Given the description of an element on the screen output the (x, y) to click on. 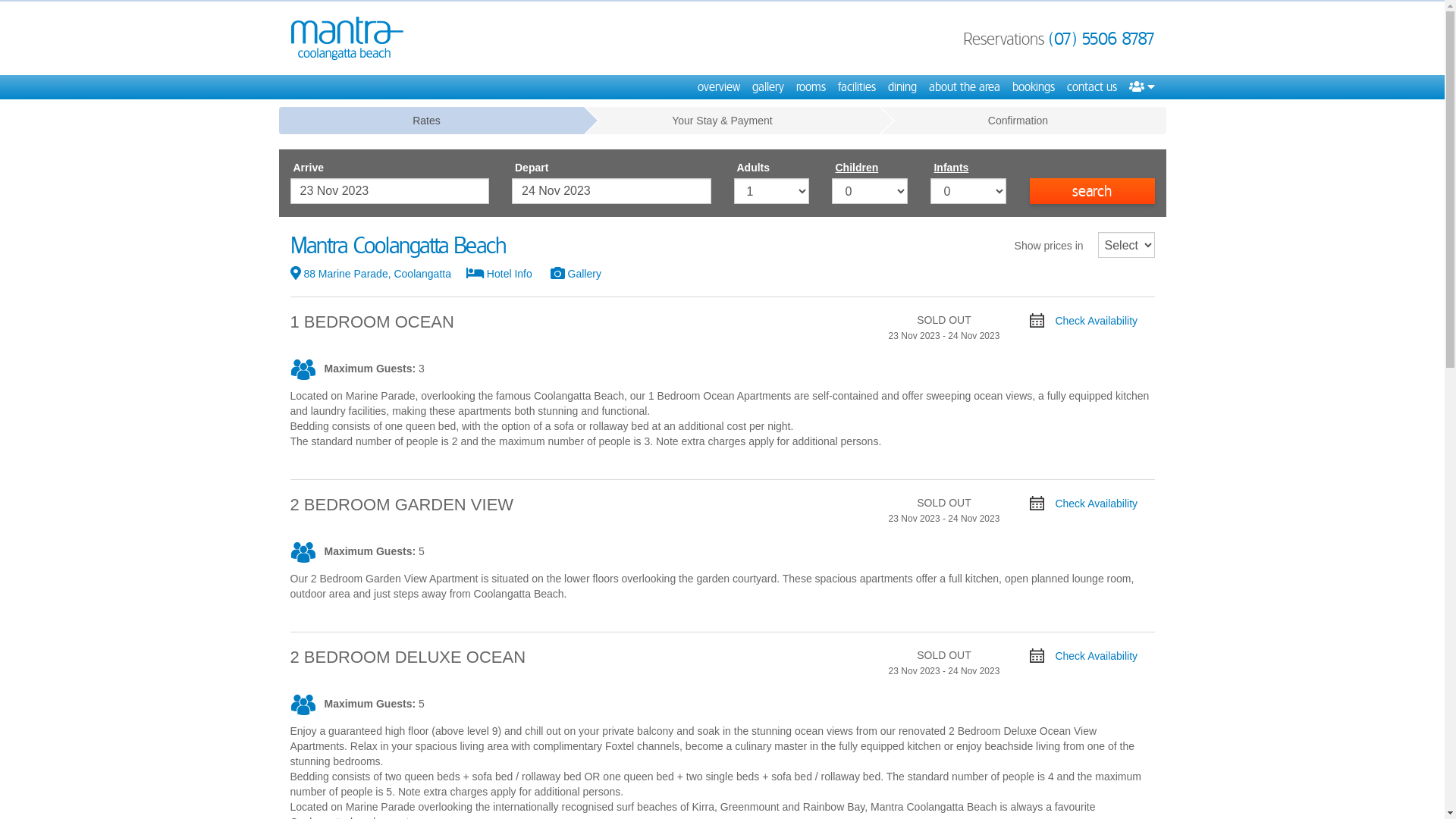
Check Availability Element type: text (1083, 655)
overview Element type: text (718, 87)
Check Availability Element type: text (1083, 320)
contact us Element type: text (1091, 87)
gallery Element type: text (768, 87)
Hotel Info Element type: text (508, 273)
facilities Element type: text (856, 87)
Check Availability Element type: text (1083, 503)
dining Element type: text (901, 87)
Search Element type: text (1091, 190)
Gallery Element type: text (583, 273)
88 Marine Parade, Coolangatta Element type: text (377, 273)
rooms Element type: text (810, 87)
bookings Element type: text (1032, 87)
Mantra Coolangatta Beach Element type: hover (346, 37)
about the area Element type: text (963, 87)
(07) 5506 8787 Element type: text (1101, 38)
